Given the description of an element on the screen output the (x, y) to click on. 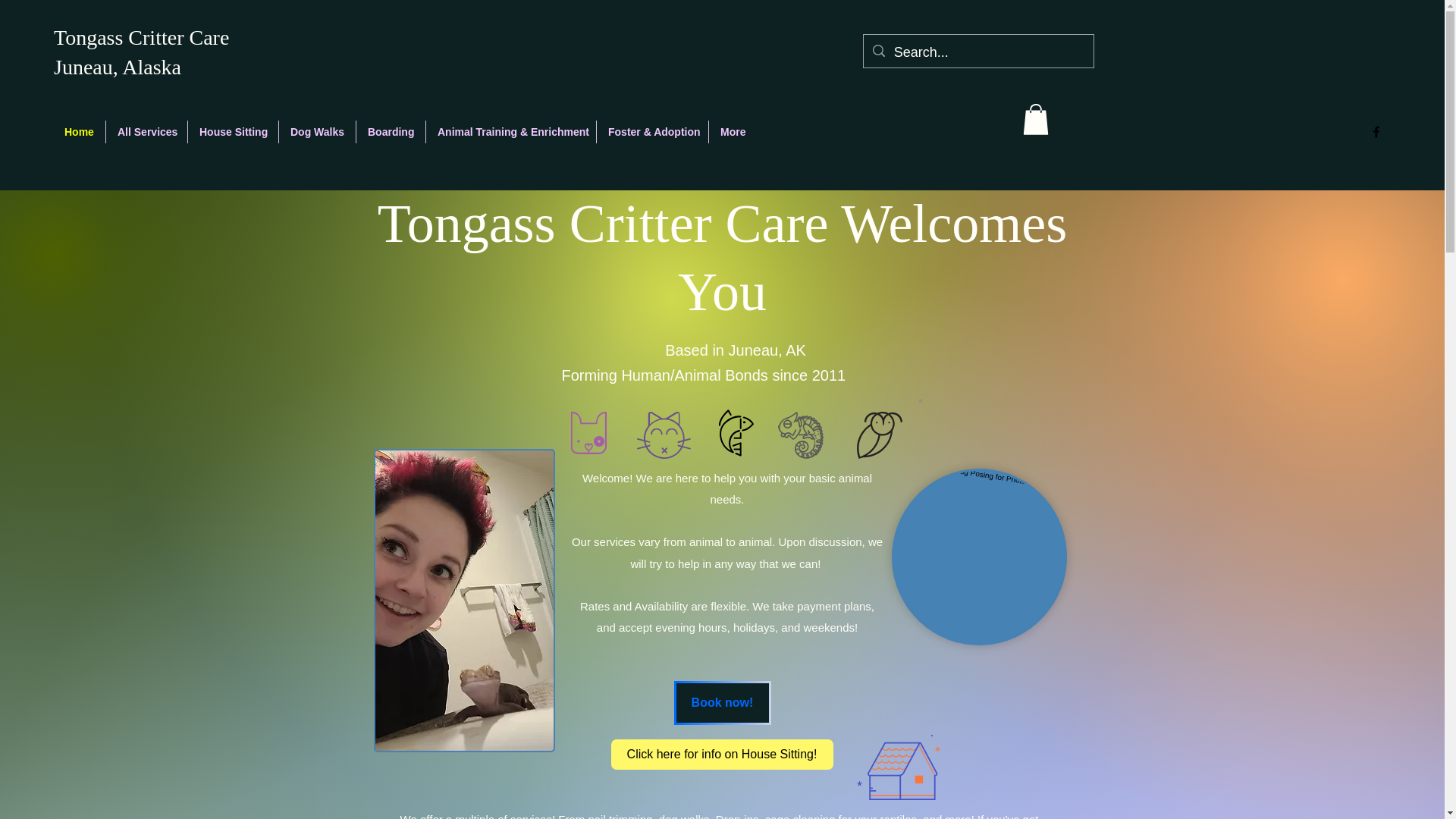
Click here for info on House Sitting! (721, 754)
Dog Walks (317, 131)
Home (78, 131)
All Services (146, 131)
Boarding (390, 131)
House Sitting (232, 131)
Book now! (721, 702)
